Given the description of an element on the screen output the (x, y) to click on. 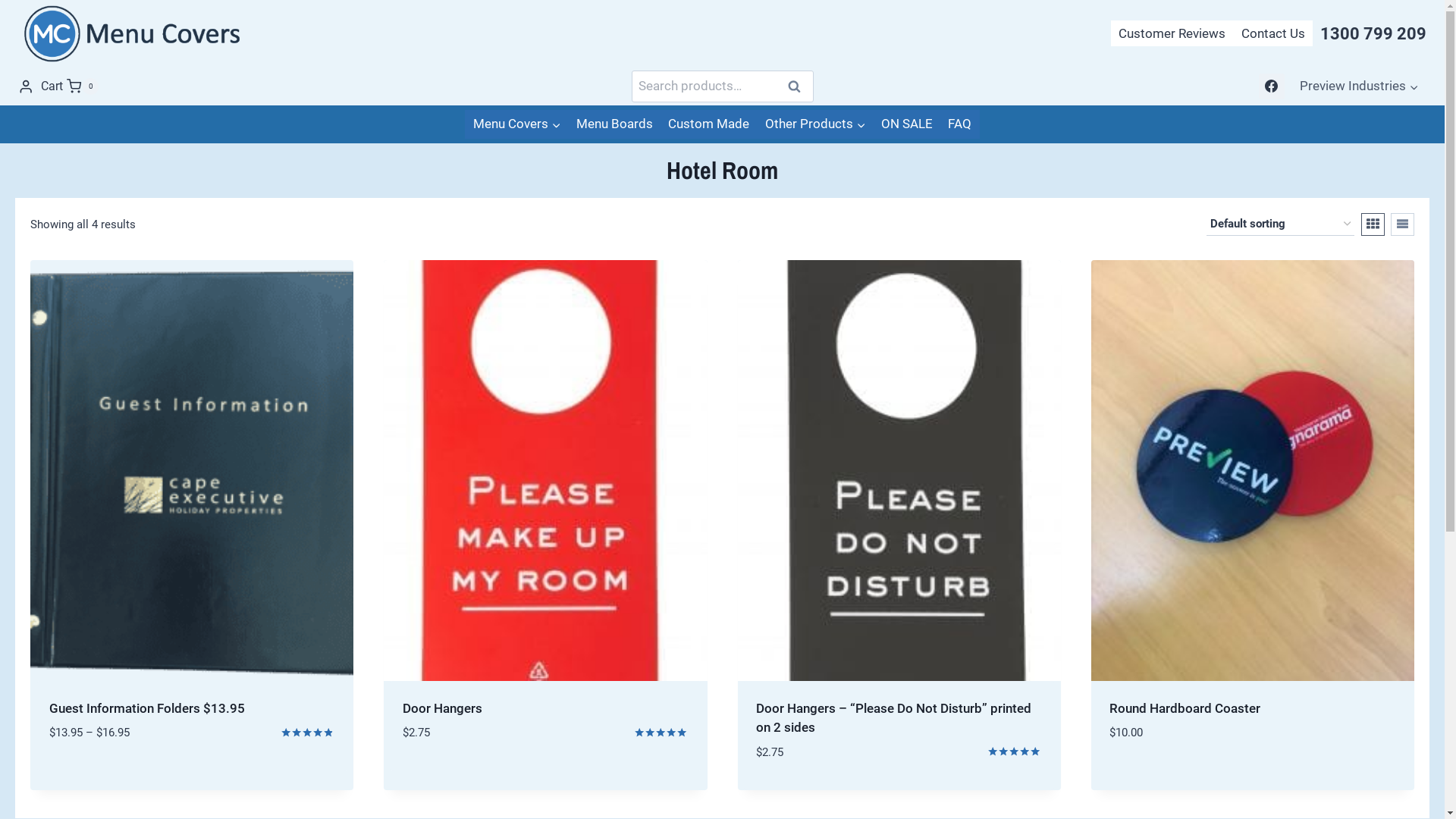
List View Element type: hover (1402, 224)
ON SALE Element type: text (906, 123)
Grid View Element type: hover (1371, 224)
Door Hangers Element type: text (442, 707)
Other Products Element type: text (814, 123)
Contact Us Element type: text (1272, 33)
Preview Industries Element type: text (1359, 86)
Menu Boards Element type: text (614, 123)
Search Element type: text (793, 86)
FAQ Element type: text (959, 123)
Customer Reviews Element type: text (1171, 33)
Menu Covers Element type: text (515, 123)
Guest Information Folders $13.95 Element type: text (146, 707)
Cart
0 Element type: text (69, 86)
Round Hardboard Coaster Element type: text (1184, 707)
Custom Made Element type: text (708, 123)
